Given the description of an element on the screen output the (x, y) to click on. 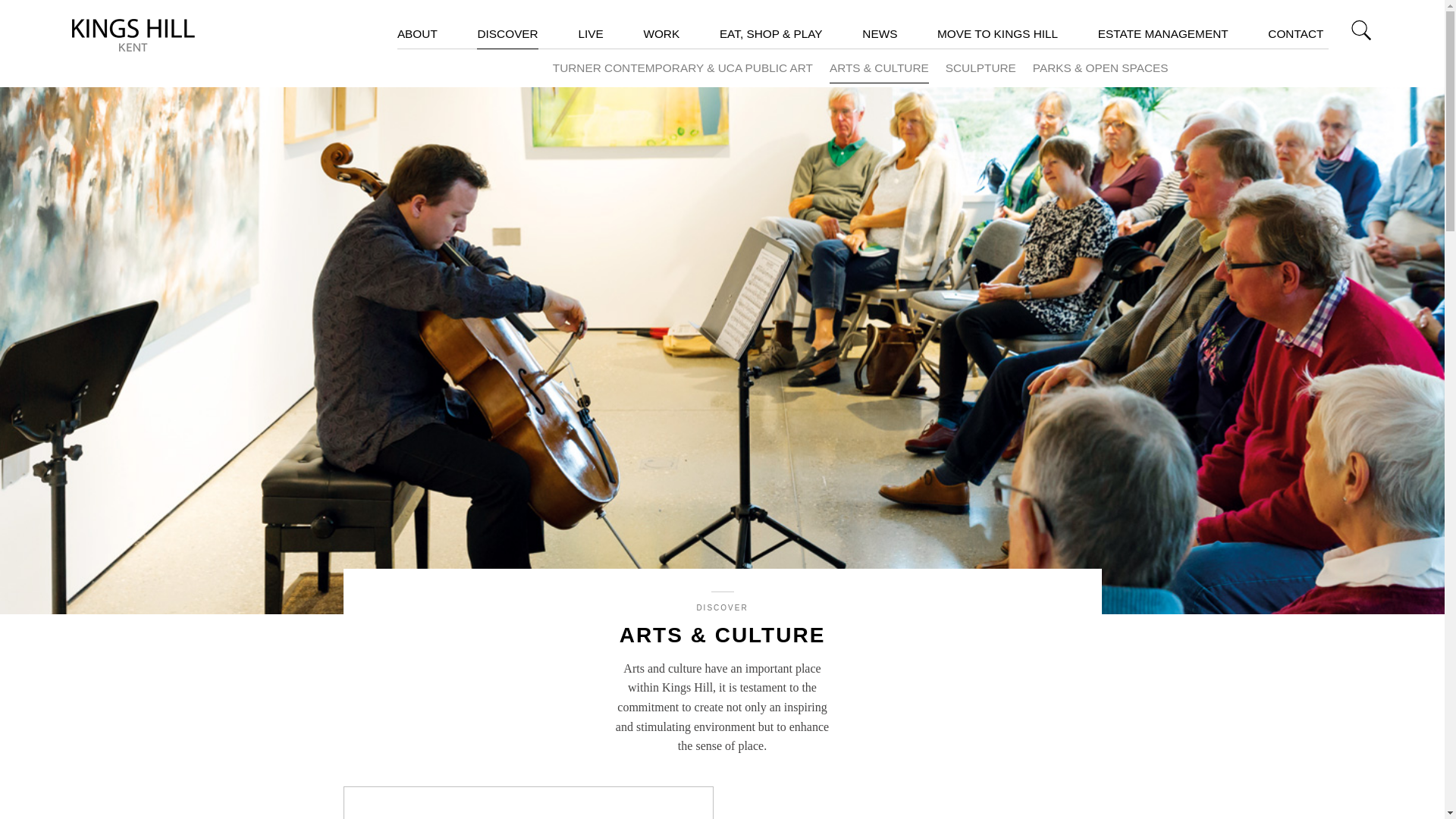
WORK (661, 33)
LIVE (590, 33)
DISCOVER (507, 33)
SCULPTURE (980, 67)
MOVE TO KINGS HILL (997, 33)
ESTATE MANAGEMENT (1162, 33)
ABOUT (417, 33)
NEWS (878, 33)
CONTACT (1295, 33)
